Given the description of an element on the screen output the (x, y) to click on. 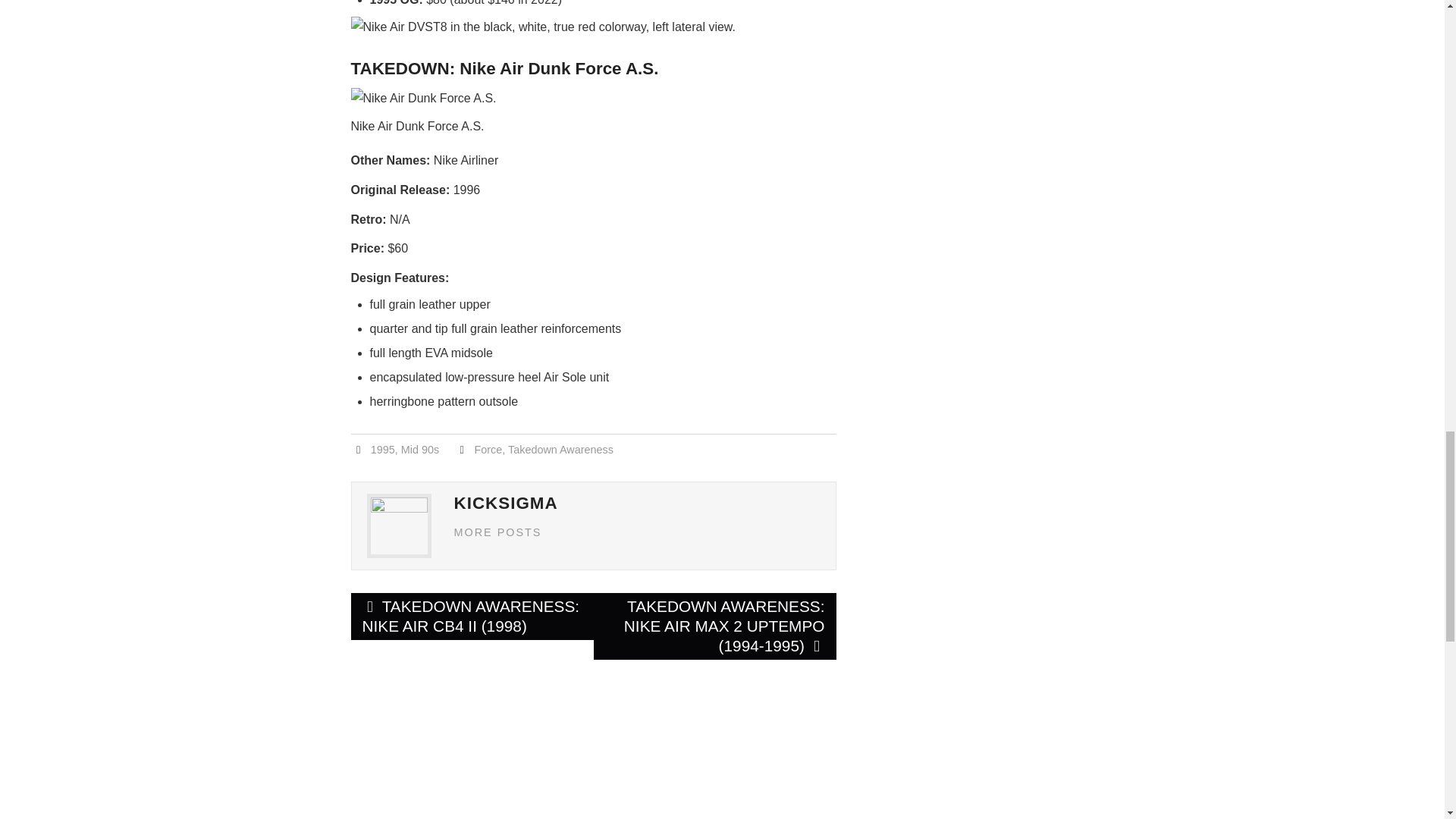
Takedown Awareness (560, 449)
Mid 90s (420, 449)
1995 (382, 449)
Force (488, 449)
MORE POSTS (496, 532)
